Given the description of an element on the screen output the (x, y) to click on. 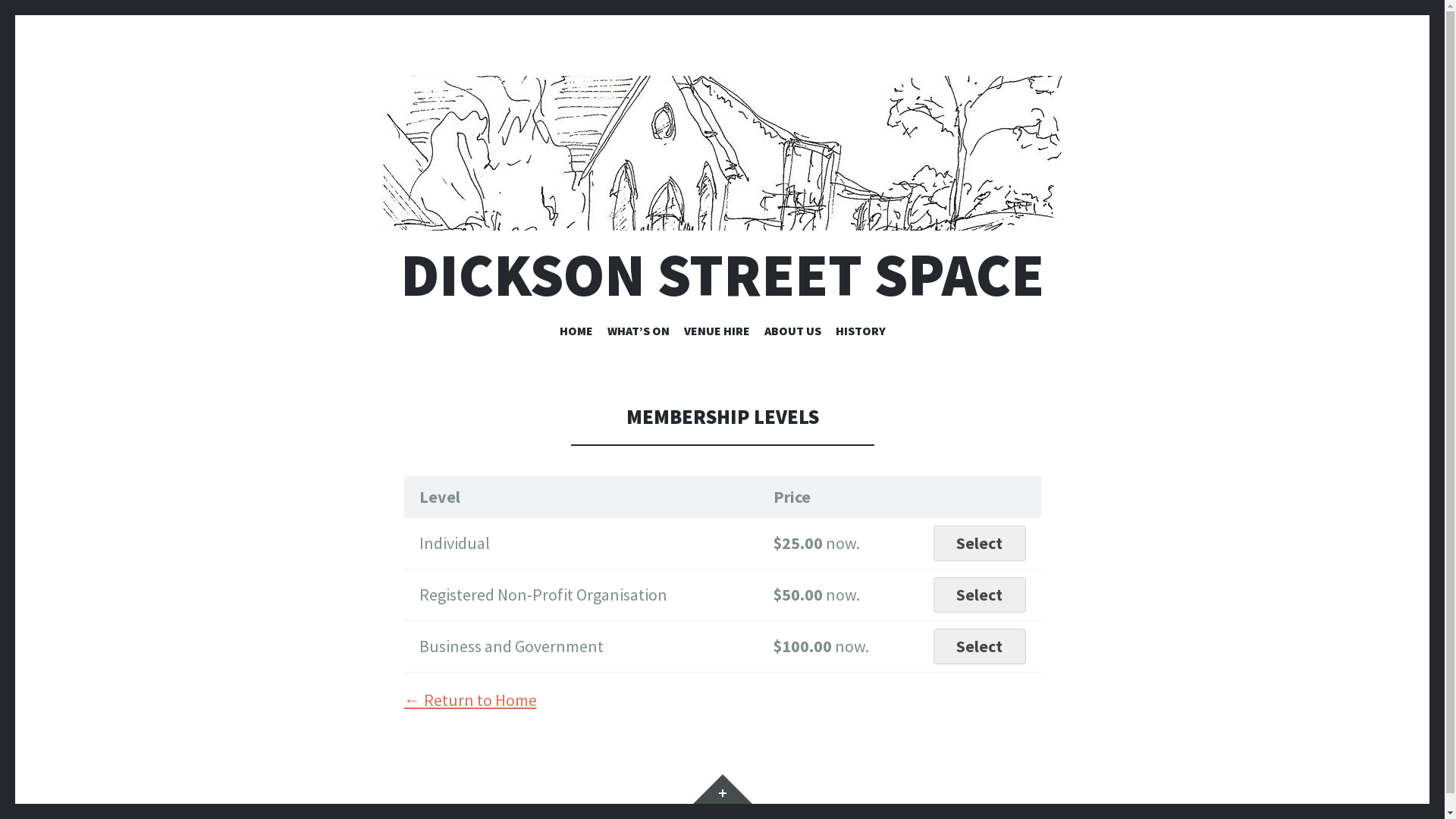
Select Element type: text (979, 543)
ABOUT US Element type: text (792, 333)
SKIP TO CONTENT Element type: text (721, 322)
Select Element type: text (979, 594)
VENUE HIRE Element type: text (716, 333)
Widgets Element type: text (721, 789)
DICKSON STREET SPACE Element type: text (722, 274)
Theme: Illustratr by WordPress.com Element type: text (456, 811)
HOME Element type: text (576, 333)
Developed by Halyucinations Studios Element type: text (114, 811)
HISTORY Element type: text (860, 333)
Select Element type: text (979, 646)
Dickson Street Space Element type: hover (721, 152)
